Given the description of an element on the screen output the (x, y) to click on. 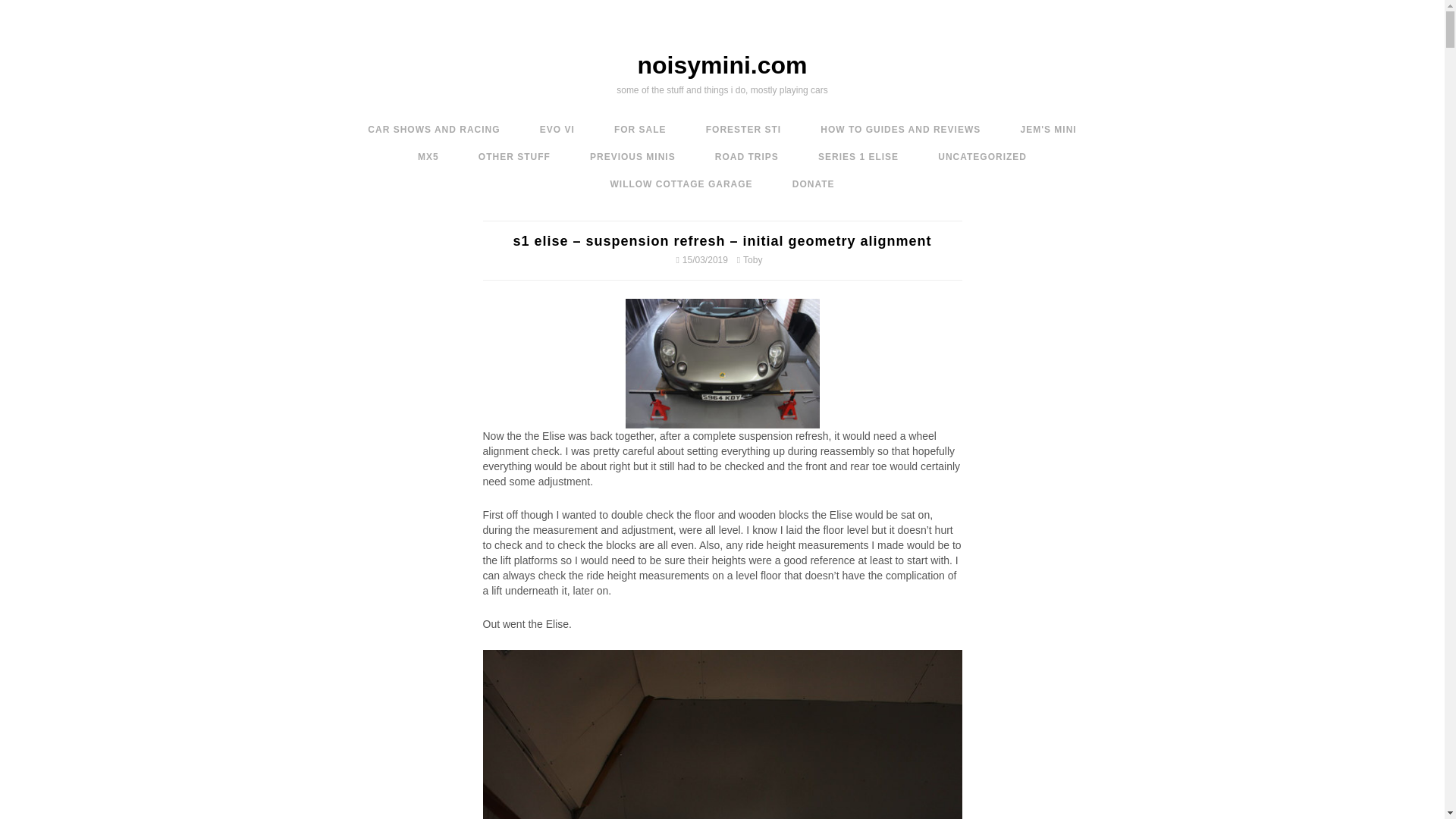
DONATE (813, 184)
noisymini.com (721, 64)
UNCATEGORIZED (982, 156)
OTHER STUFF (514, 156)
SERIES 1 ELISE (858, 156)
JEM'S MINI (1047, 129)
EVO VI (556, 129)
CAR SHOWS AND RACING (433, 129)
ROAD TRIPS (746, 156)
MX5 (427, 156)
